Given the description of an element on the screen output the (x, y) to click on. 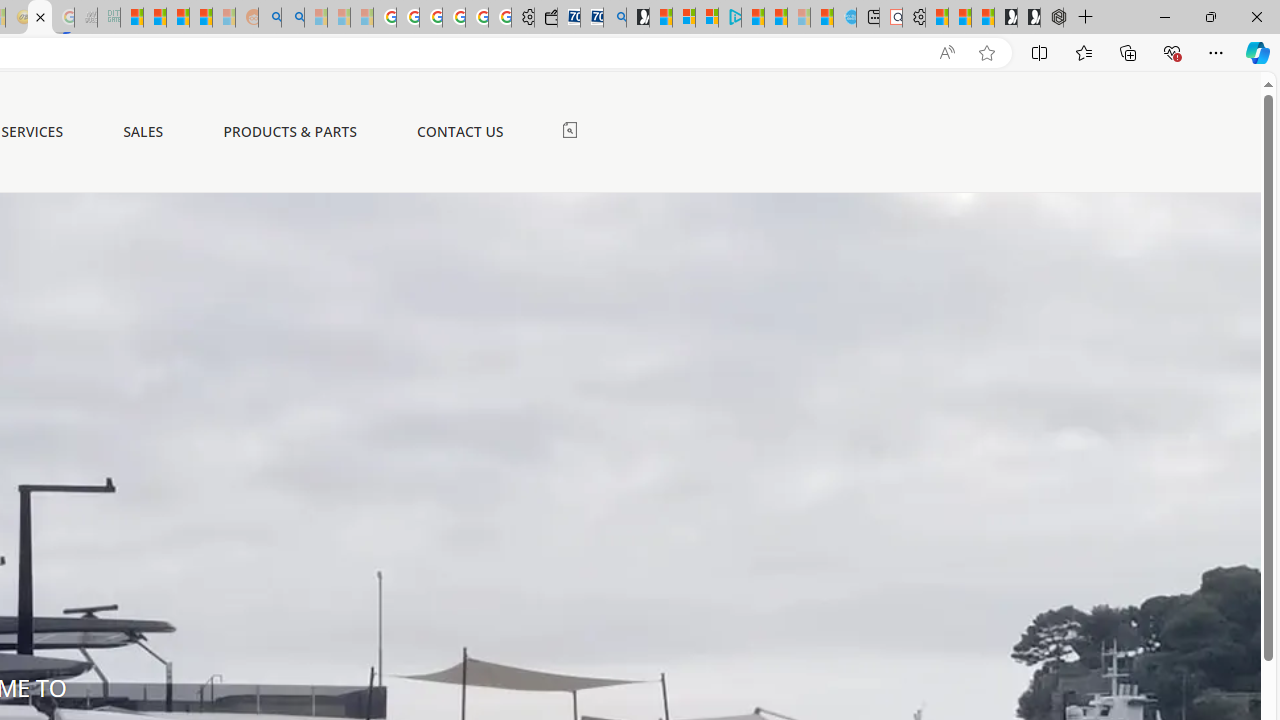
SALES (143, 131)
SALES (143, 132)
